Given the description of an element on the screen output the (x, y) to click on. 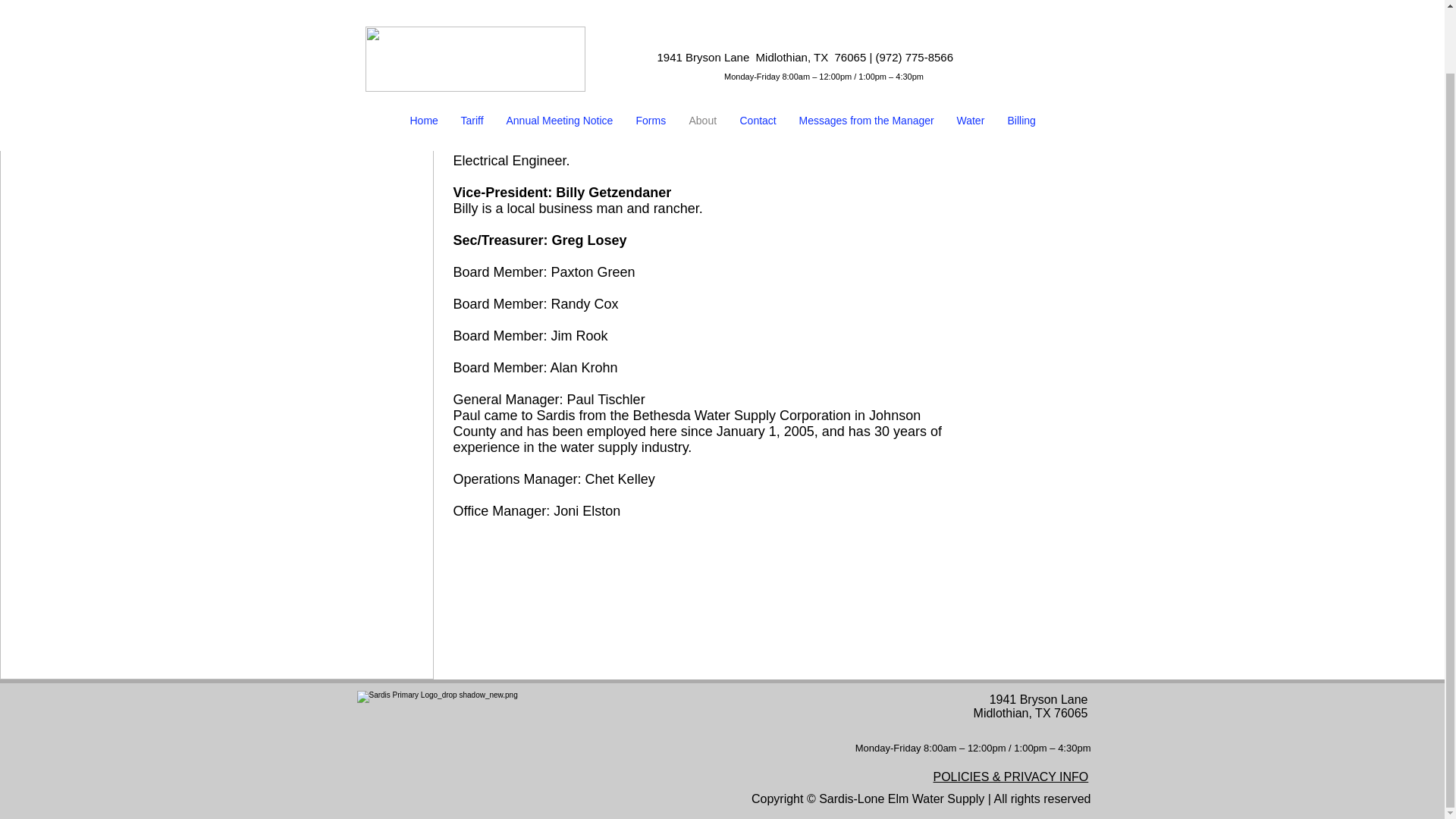
Home (423, 50)
Tariff (471, 50)
Annual Meeting Notice (559, 50)
Forms (651, 50)
Messages from the Manager (865, 50)
About (703, 50)
Contact (757, 50)
